Given the description of an element on the screen output the (x, y) to click on. 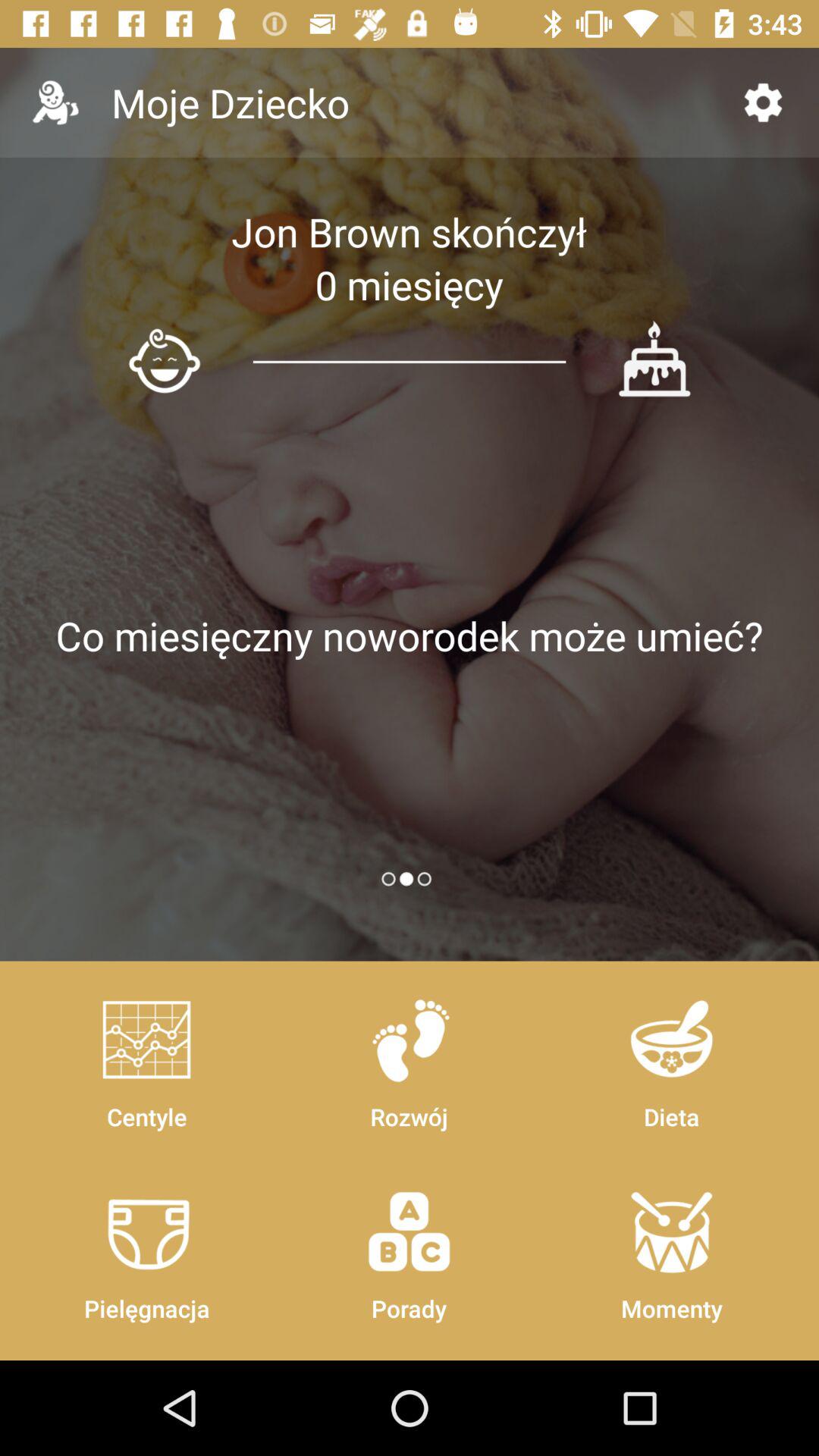
turn off the item next to moje dziecko icon (763, 102)
